Given the description of an element on the screen output the (x, y) to click on. 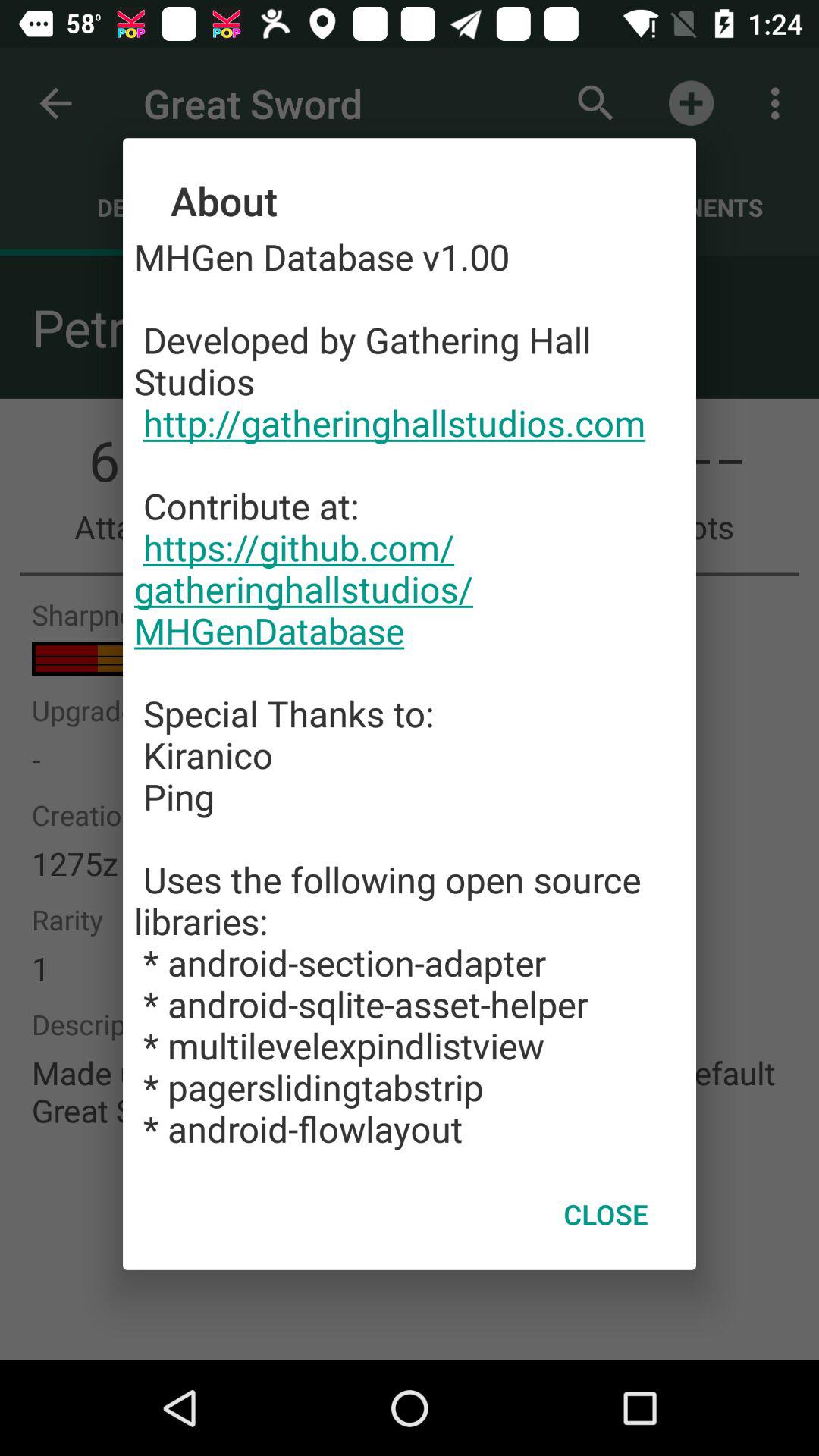
launch the mhgen database v1 item (409, 692)
